Given the description of an element on the screen output the (x, y) to click on. 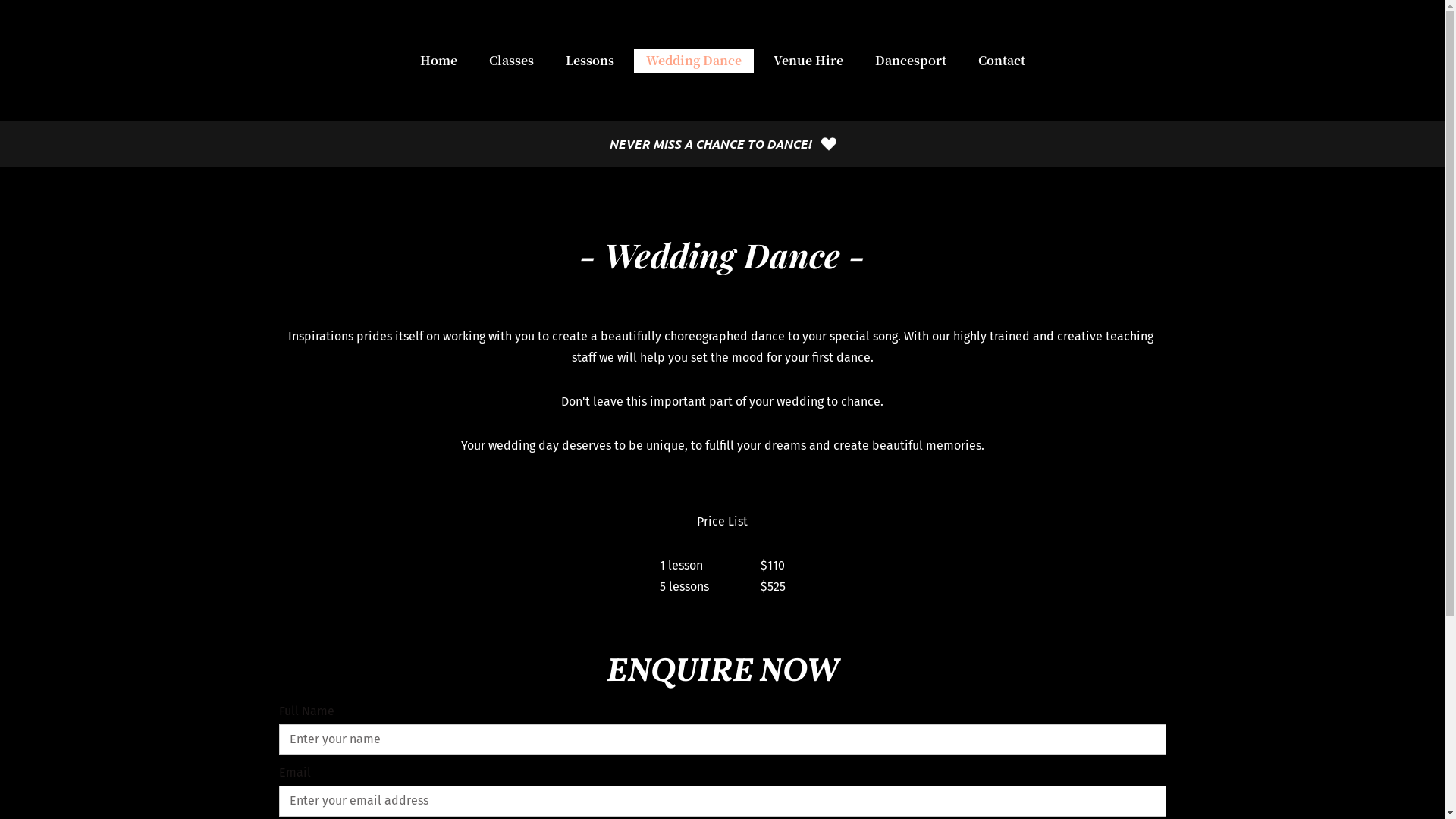
Contact Element type: text (1001, 60)
Home Element type: text (438, 60)
Lessons Element type: text (589, 60)
Wedding Dance Element type: text (693, 60)
Dancesport Element type: text (910, 60)
Venue Hire Element type: text (808, 60)
Classes Element type: text (510, 60)
